Given the description of an element on the screen output the (x, y) to click on. 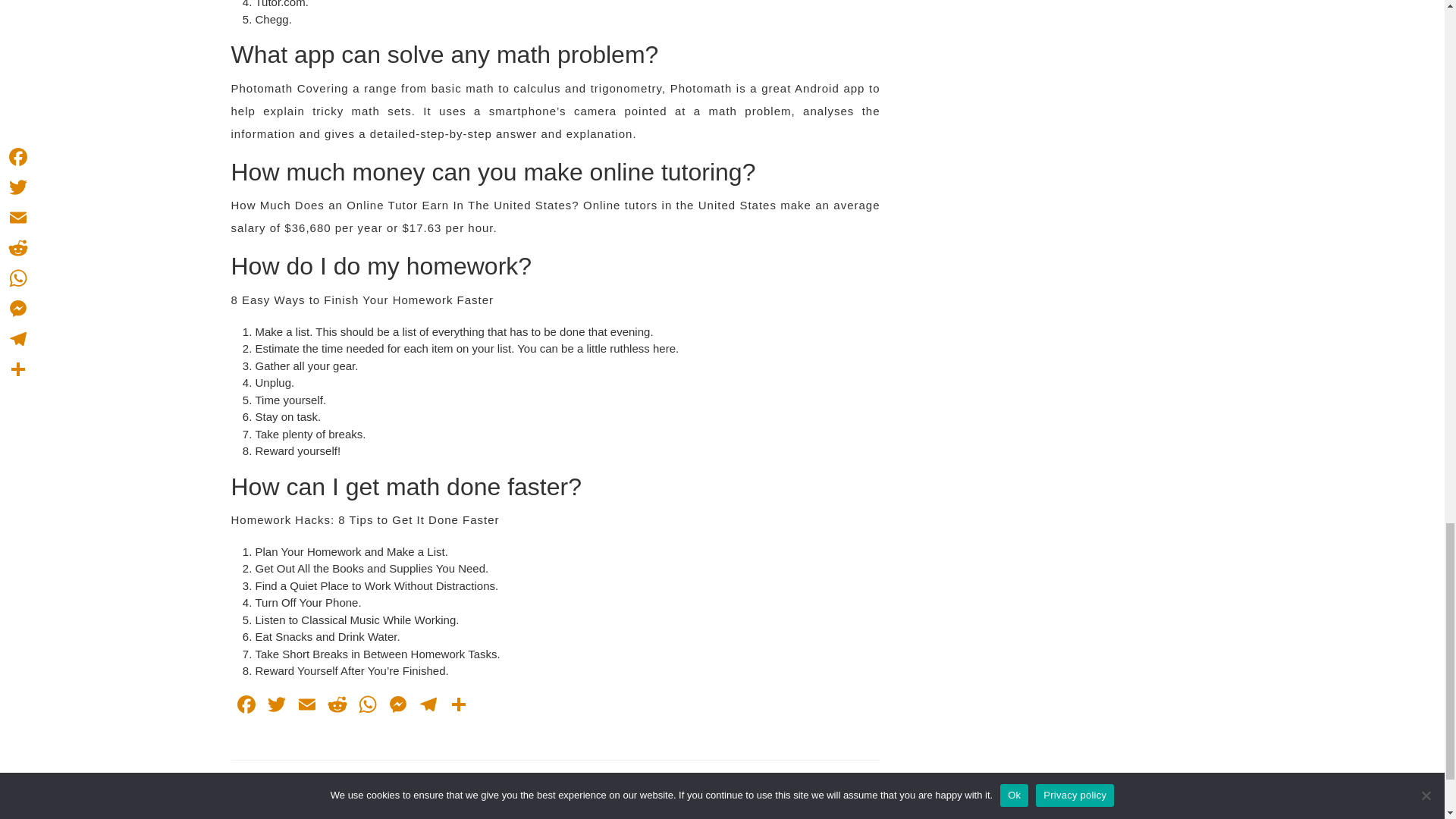
WhatsApp (366, 706)
Email (716, 775)
Messenger (306, 706)
Facebook (396, 706)
WhatsApp (245, 706)
Telegram (366, 706)
Twitter (427, 706)
Facebook (275, 706)
Telegram (245, 706)
